Given the description of an element on the screen output the (x, y) to click on. 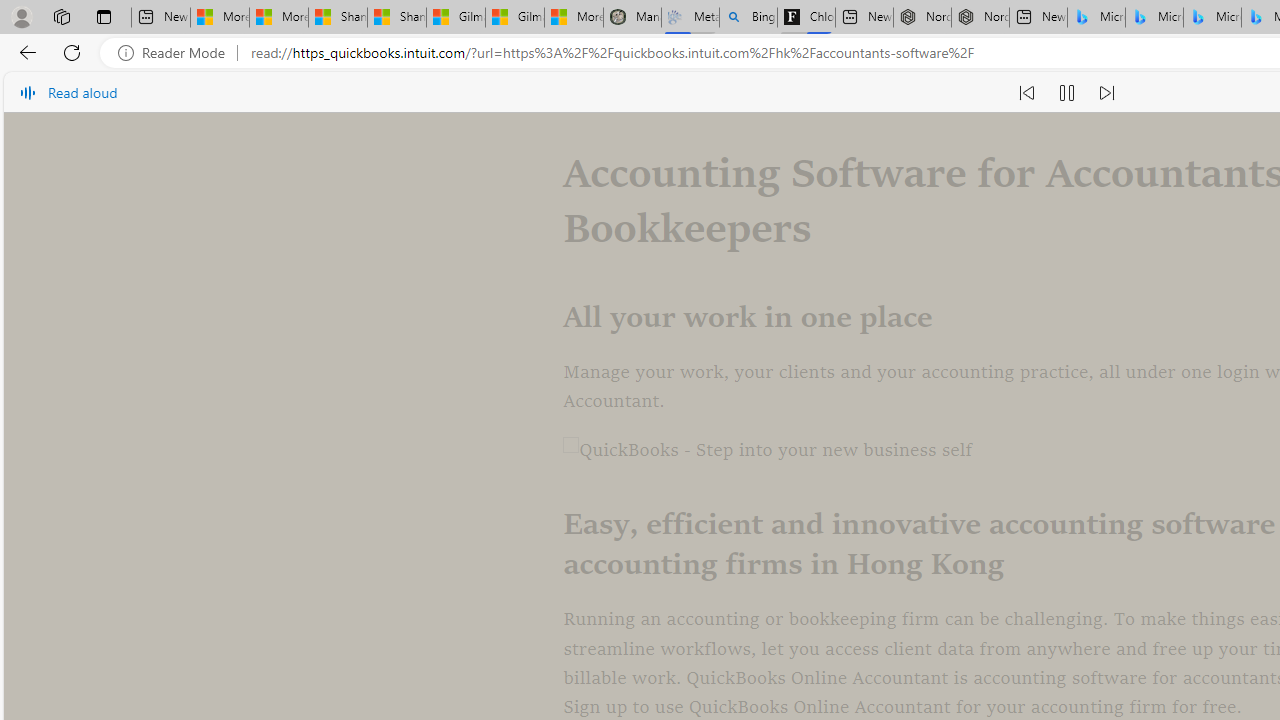
Microsoft Bing Travel - Stays in Bangkok, Bangkok, Thailand (1154, 17)
Bing Real Estate - Home sales and rental listings (747, 17)
Reader Mode (177, 53)
